Given the description of an element on the screen output the (x, y) to click on. 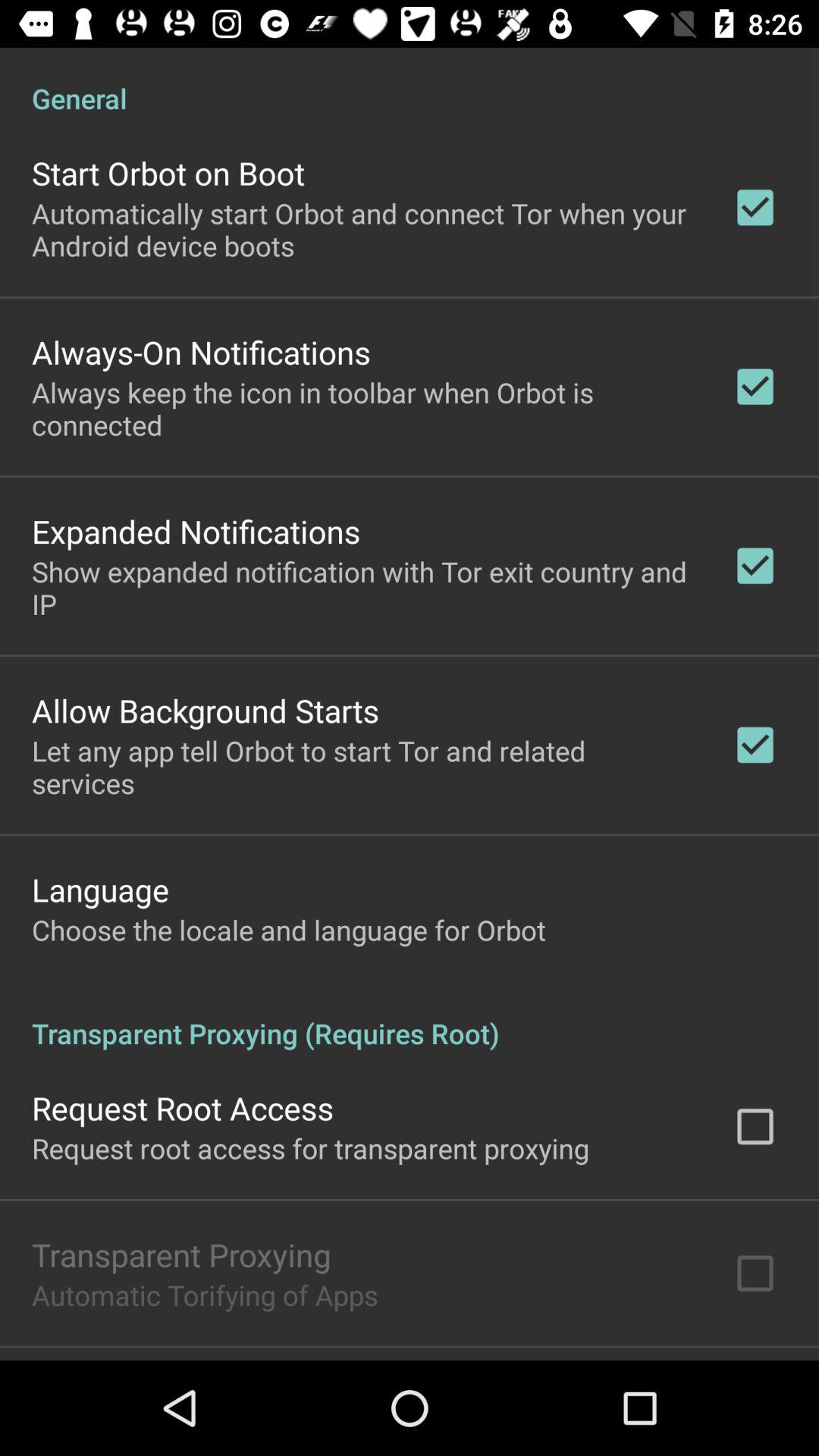
turn off the item above let any app icon (205, 709)
